Given the description of an element on the screen output the (x, y) to click on. 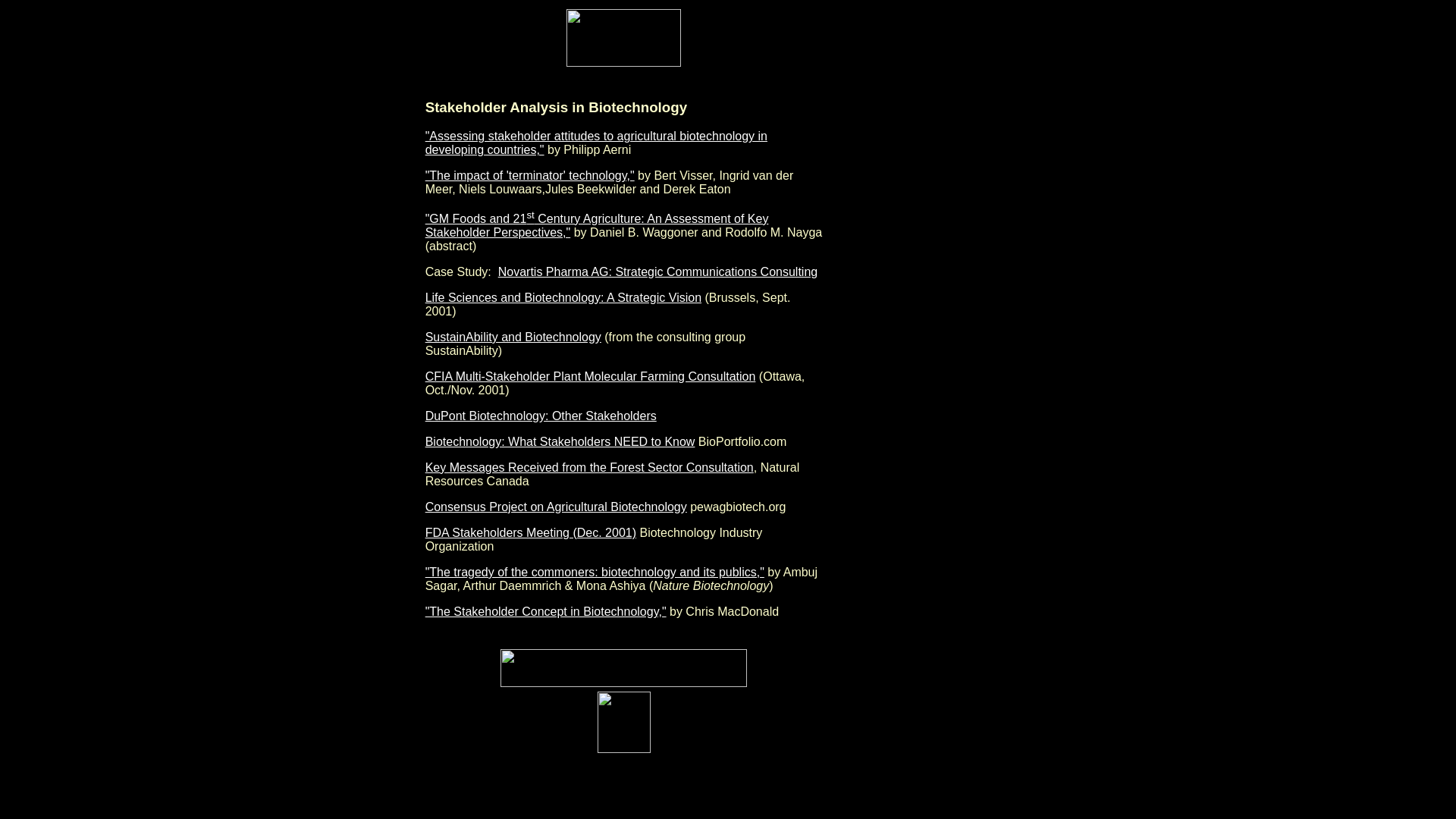
FDA Stakeholders Meeting (Dec. 2001) Element type: text (530, 532)
SustainAbility and Biotechnology Element type: text (513, 336)
Key Messages Received from the Forest Sector Consultation Element type: text (589, 467)
"The Stakeholder Concept in Biotechnology," Element type: text (545, 611)
Life Sciences and Biotechnology: A Strategic Vision Element type: text (563, 297)
CFIA Multi-Stakeholder Plant Molecular Farming Consultation Element type: text (590, 376)
Consensus Project on Agricultural Biotechnology Element type: text (556, 506)
"The impact of 'terminator' technology," Element type: text (529, 175)
Novartis Pharma AG: Strategic Communications Consulting Element type: text (658, 271)
Biotechnology: What Stakeholders NEED to Know Element type: text (560, 441)
DuPont Biotechnology: Other Stakeholders Element type: text (540, 415)
